Given the description of an element on the screen output the (x, y) to click on. 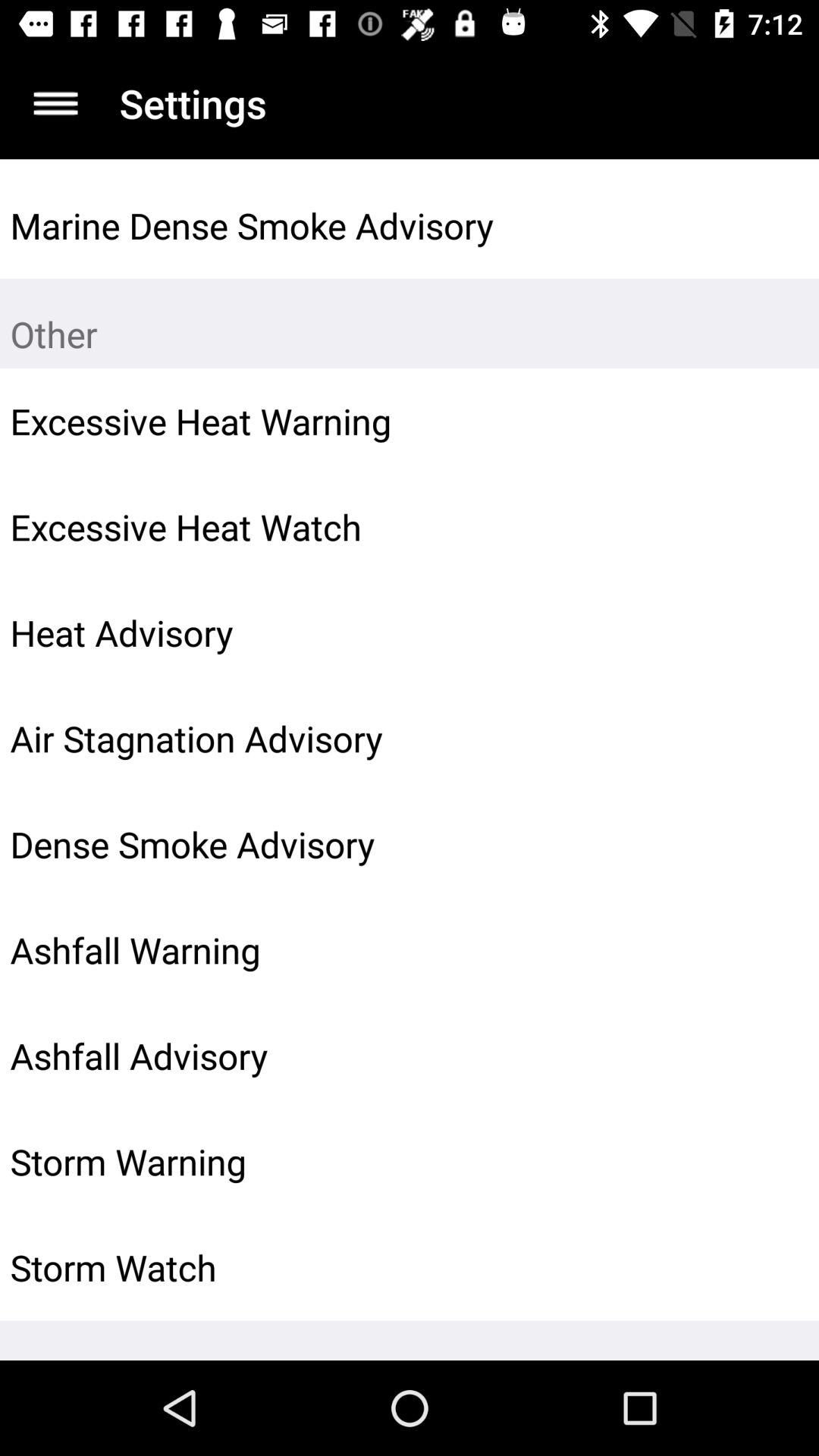
tap the icon next to the excessive heat warning (771, 421)
